Given the description of an element on the screen output the (x, y) to click on. 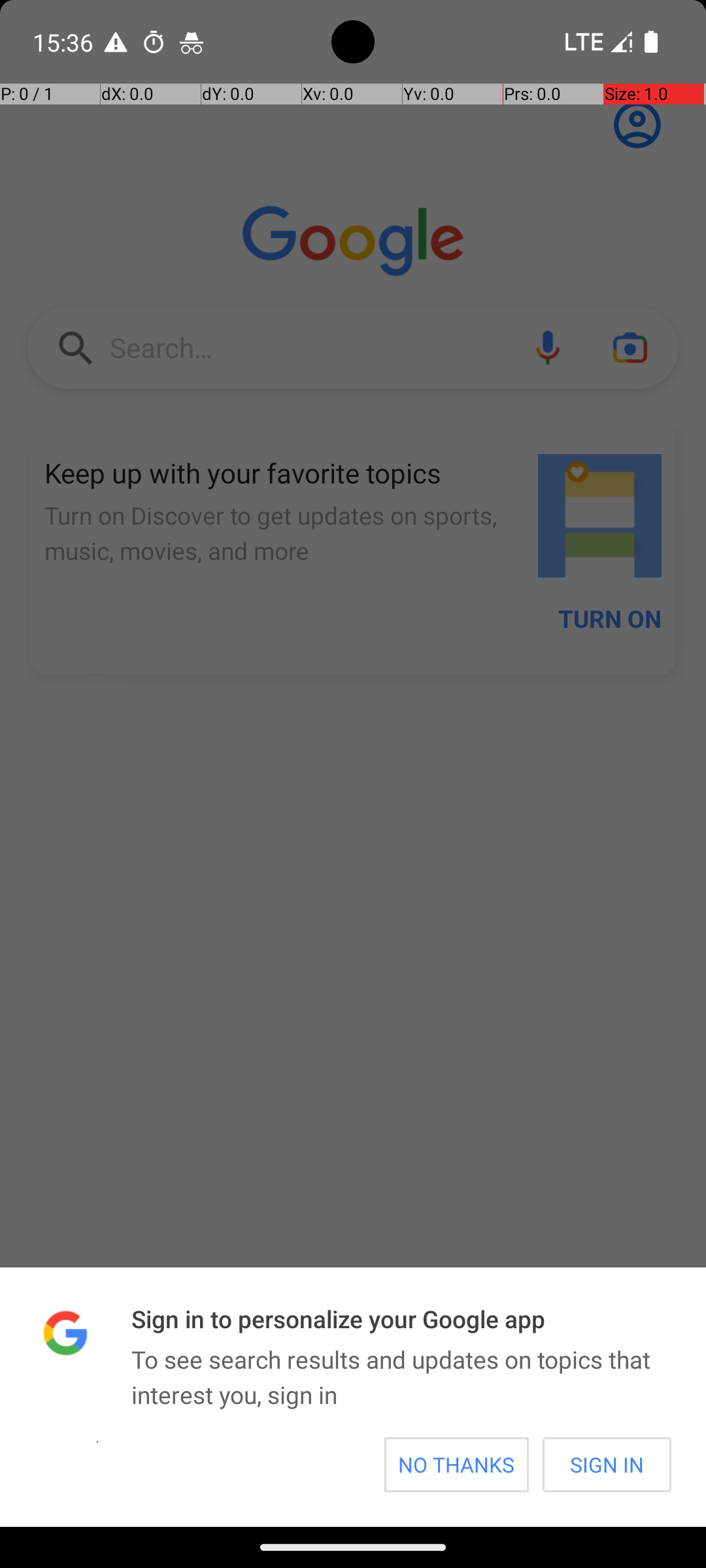
Sign in to personalize your Google app Element type: android.widget.TextView (401, 1318)
To see search results and updates on topics that interest you, sign in Element type: android.widget.TextView (401, 1376)
NO THANKS Element type: android.widget.TextView (456, 1464)
SIGN IN Element type: android.widget.TextView (606, 1464)
15:36 Element type: android.widget.TextView (64, 41)
